Given the description of an element on the screen output the (x, y) to click on. 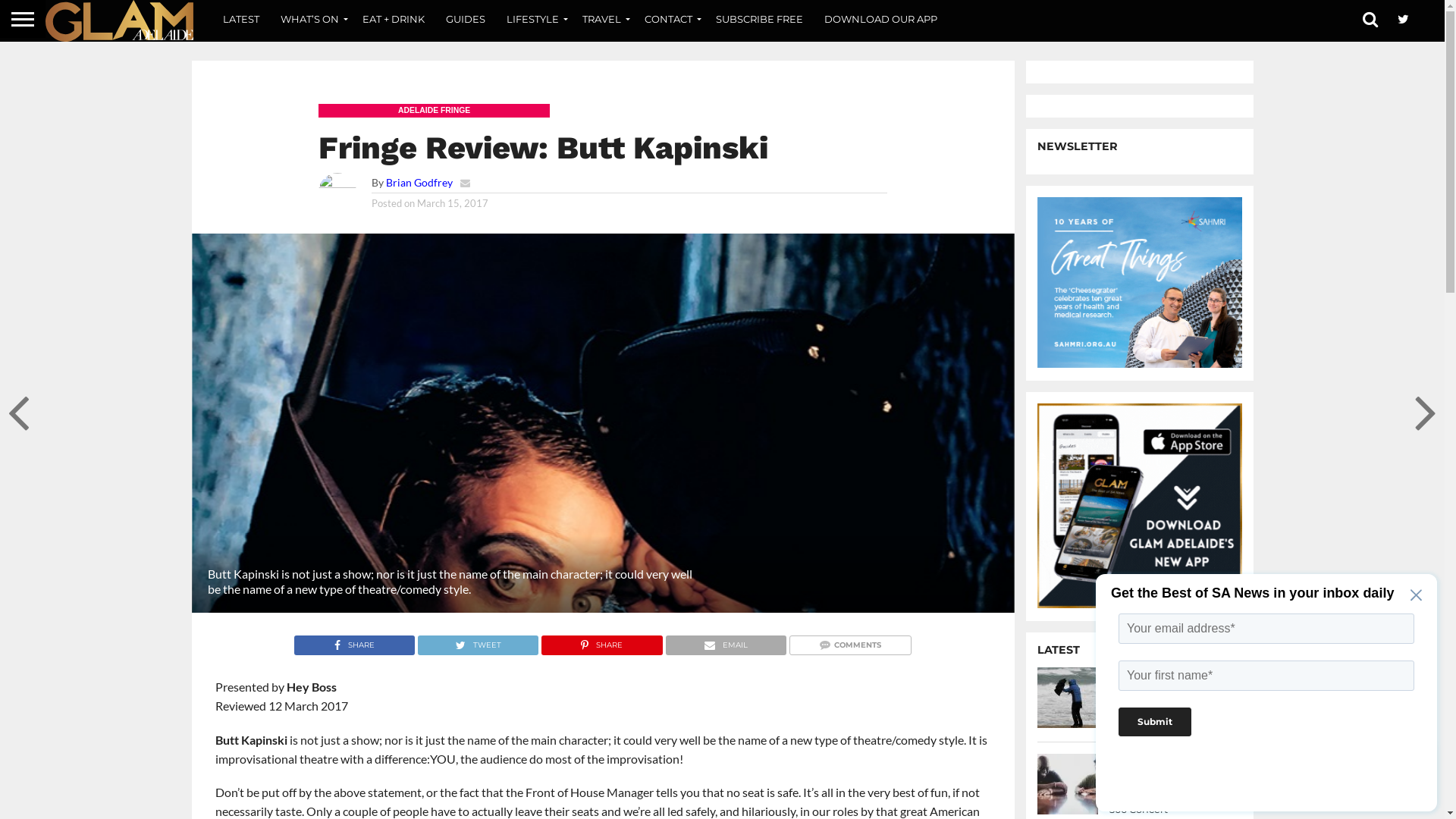
SHARE Element type: text (601, 640)
LATEST Element type: text (240, 18)
TWEET Element type: text (477, 640)
TRAVEL Element type: text (602, 18)
SHARE Element type: text (354, 640)
SUBSCRIBE FREE Element type: text (759, 18)
EAT + DRINK Element type: text (393, 18)
Brian Godfrey Element type: text (418, 181)
EMAIL Element type: text (725, 640)
LIFESTYLE Element type: text (533, 18)
COMMENTS Element type: text (849, 640)
GUIDES Element type: text (465, 18)
CONTACT Element type: text (669, 18)
DOWNLOAD OUR APP Element type: text (880, 18)
